Given the description of an element on the screen output the (x, y) to click on. 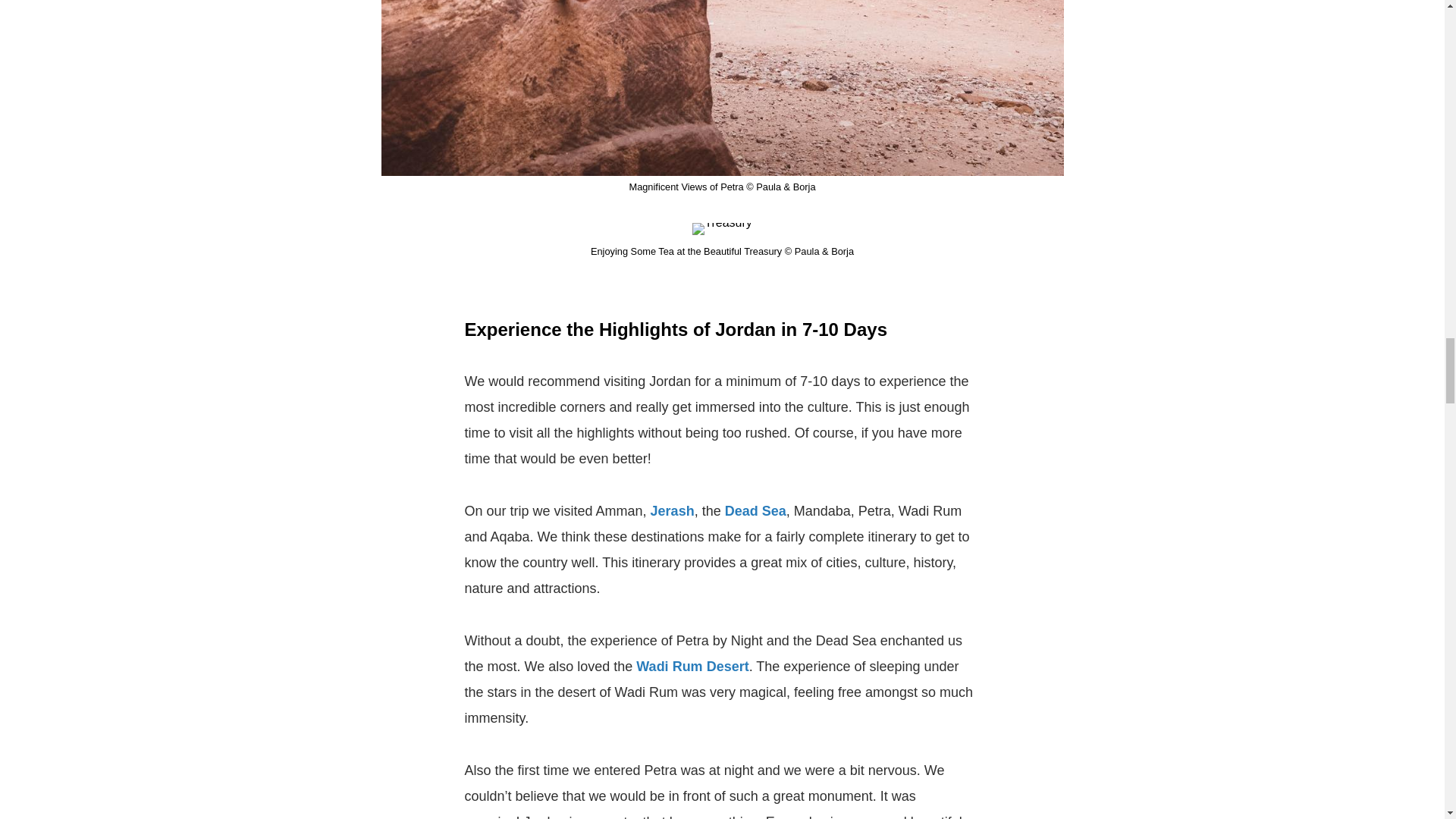
Dead Sea (755, 510)
Wadi Rum Desert (692, 666)
Jerash (672, 510)
